Given the description of an element on the screen output the (x, y) to click on. 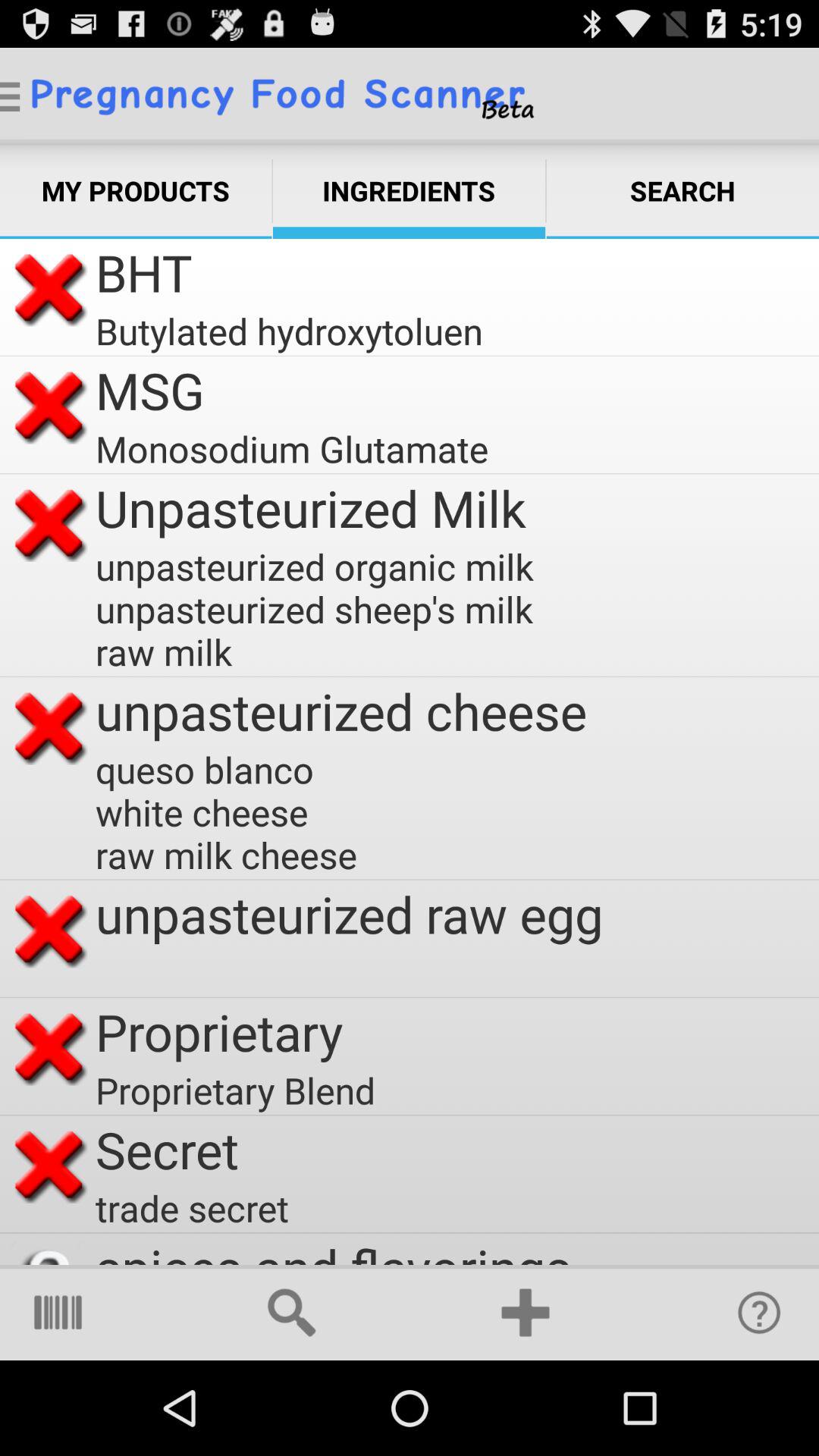
turn off proprietary blend  item (239, 1089)
